Given the description of an element on the screen output the (x, y) to click on. 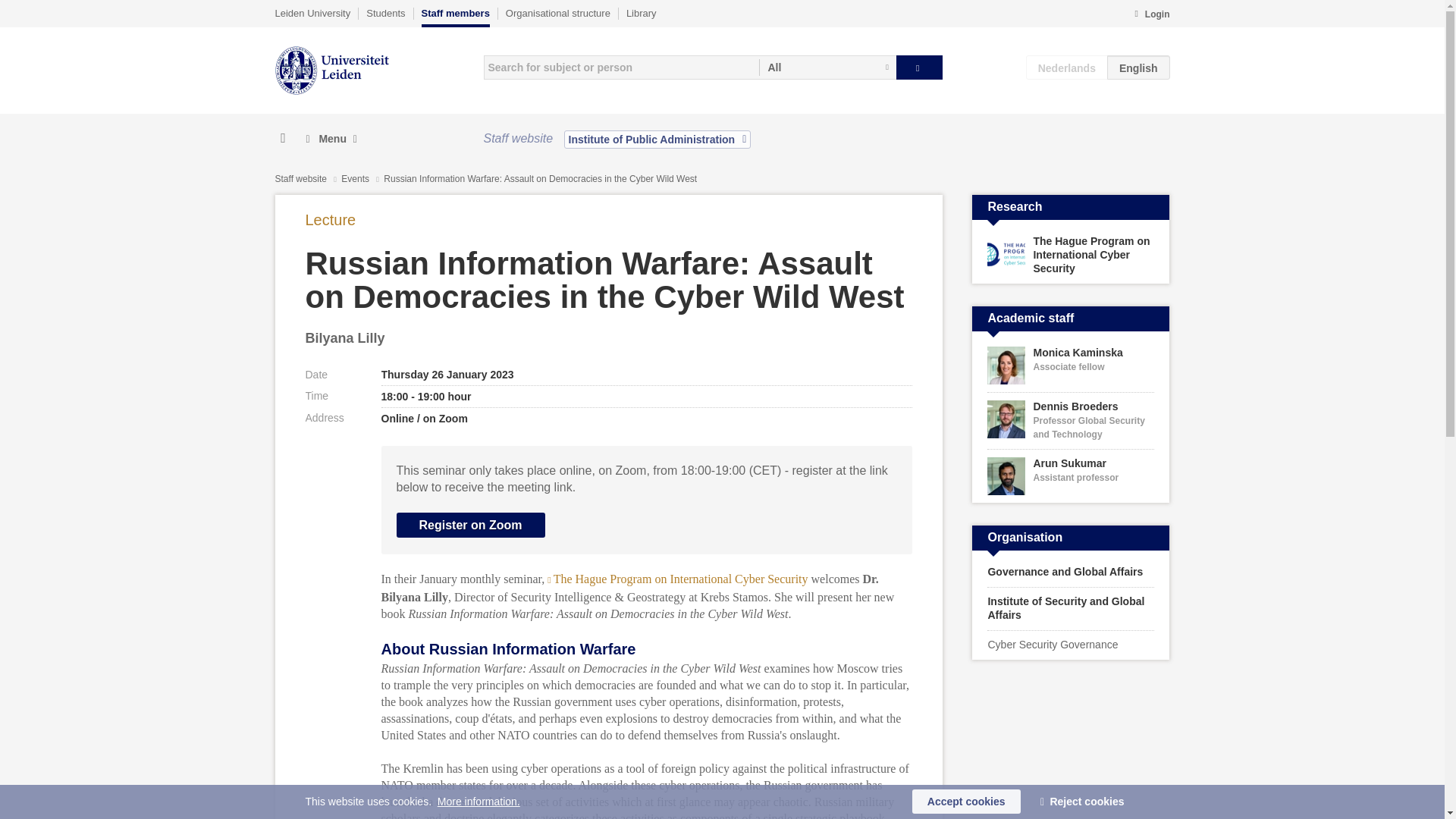
Search (919, 67)
Menu (330, 139)
Institute of Public Administration (657, 139)
Staff members (455, 17)
Login (1151, 14)
Leiden University (312, 13)
Library (641, 13)
Students (385, 13)
All (827, 67)
Organisational structure (557, 13)
